Given the description of an element on the screen output the (x, y) to click on. 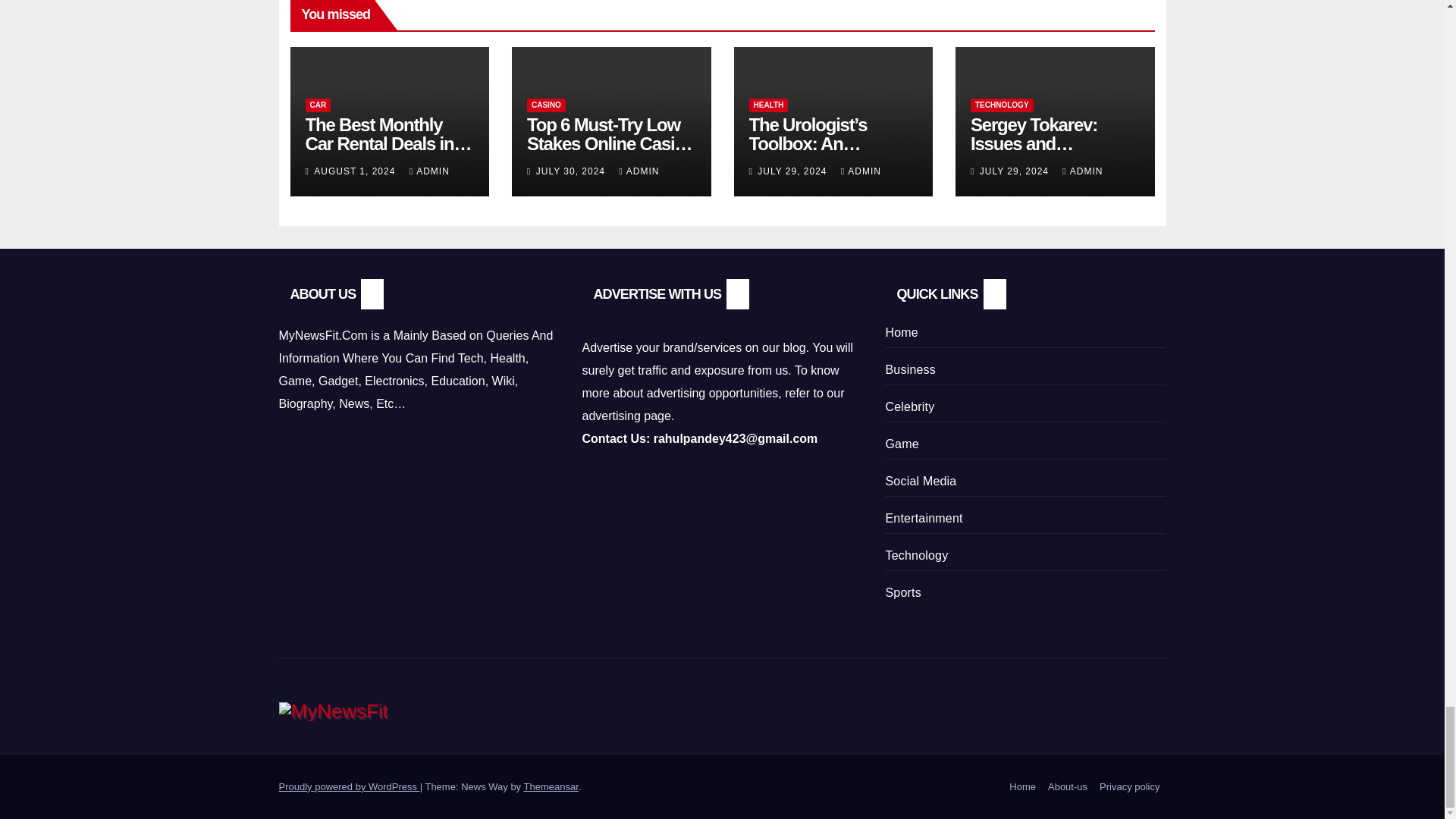
Permalink to: The Best Monthly Car Rental Deals in Dubai (387, 143)
